Given the description of an element on the screen output the (x, y) to click on. 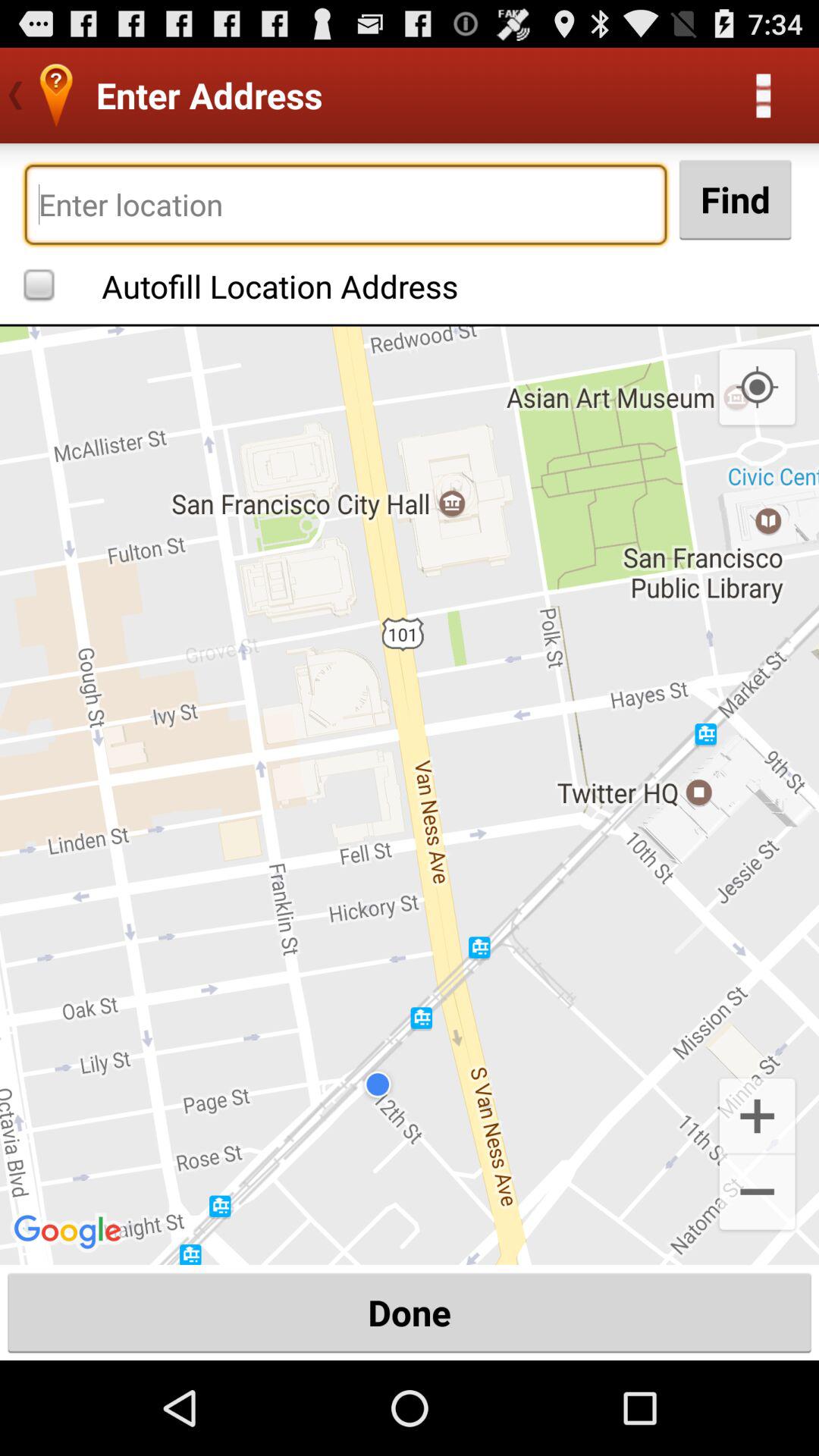
open the done (409, 1312)
